Given the description of an element on the screen output the (x, y) to click on. 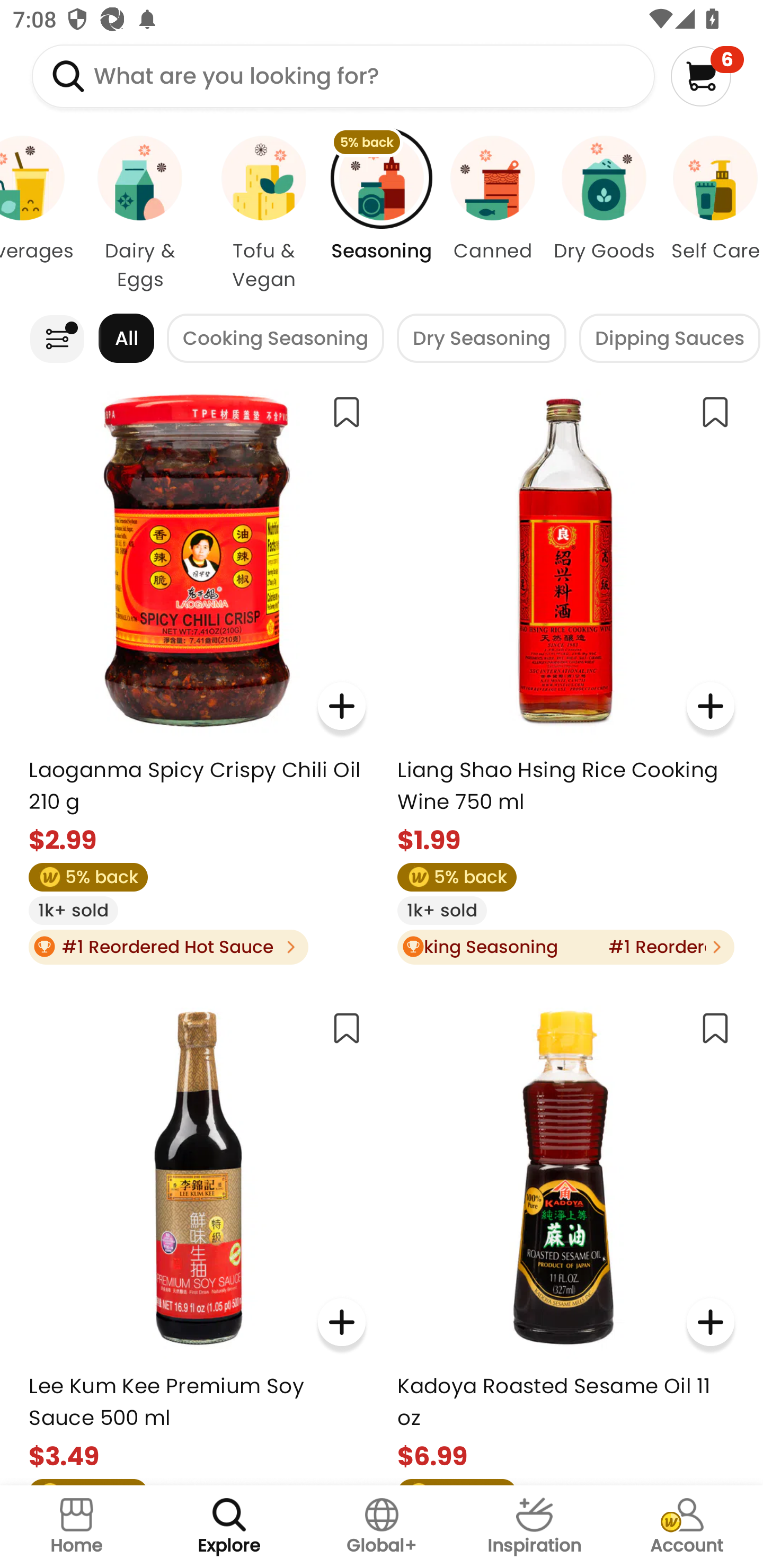
What are you looking for? (343, 75)
6 (706, 75)
Beverages (38, 214)
Dairy & Eggs (139, 214)
Tofu & Vegan (263, 214)
5% back Seasoning (381, 214)
Canned (492, 214)
Dry Goods (603, 214)
Self Care (711, 214)
All (126, 337)
Cooking Seasoning (275, 337)
Dry Seasoning (481, 337)
Dipping Sauces (669, 337)
Lee Kum Kee Premium Soy Sauce 500 ml $3.49 5% back (197, 1239)
Kadoya Roasted Sesame Oil 11 oz $6.99 5% back (565, 1239)
Home (76, 1526)
Explore (228, 1526)
Global+ (381, 1526)
Inspiration (533, 1526)
Account (686, 1526)
